Given the description of an element on the screen output the (x, y) to click on. 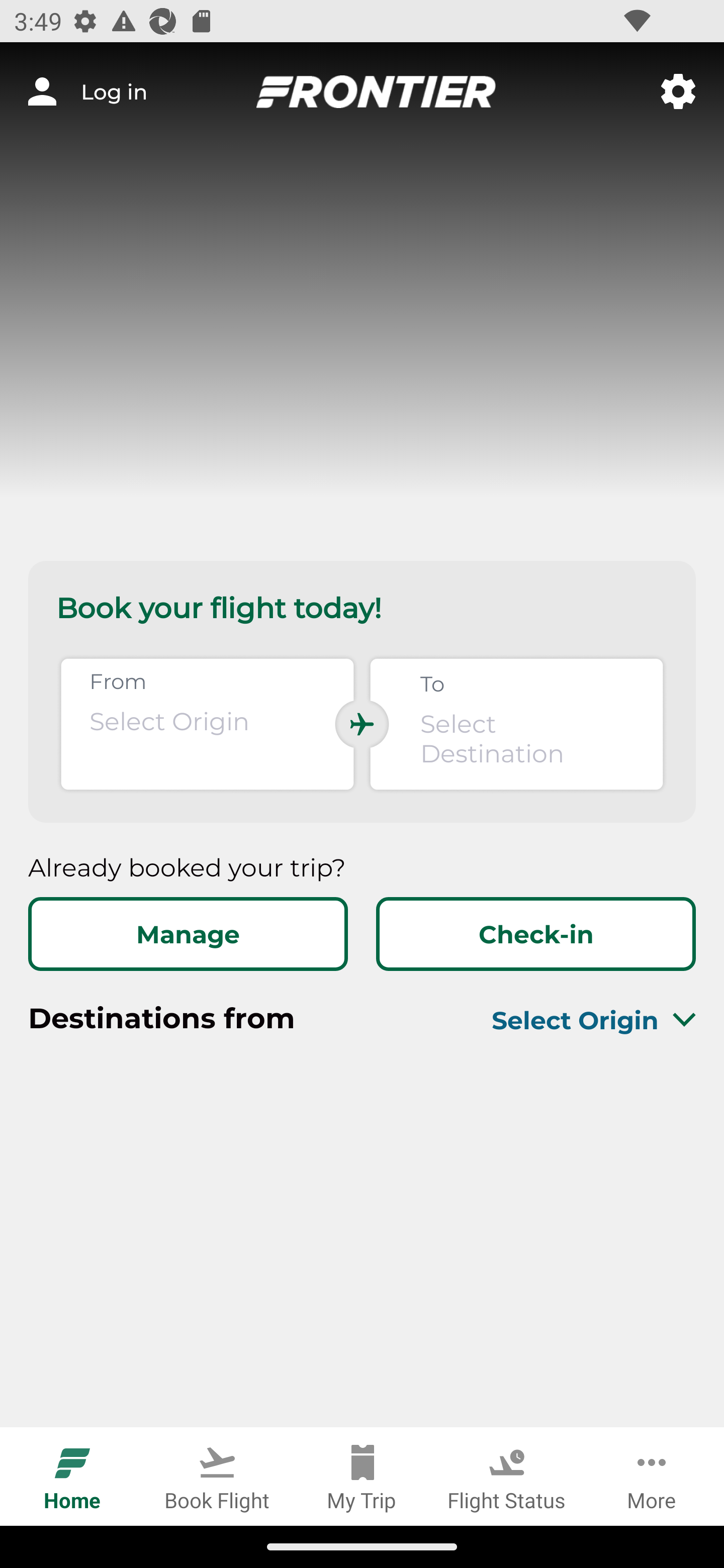
Log in (87, 91)
From Select Origin (207, 723)
To Select Destination (516, 723)
Manage (188, 933)
Check-in (535, 933)
Select Origin (570, 1019)
Book Flight (216, 1475)
My Trip (361, 1475)
Flight Status (506, 1475)
More (651, 1475)
